Given the description of an element on the screen output the (x, y) to click on. 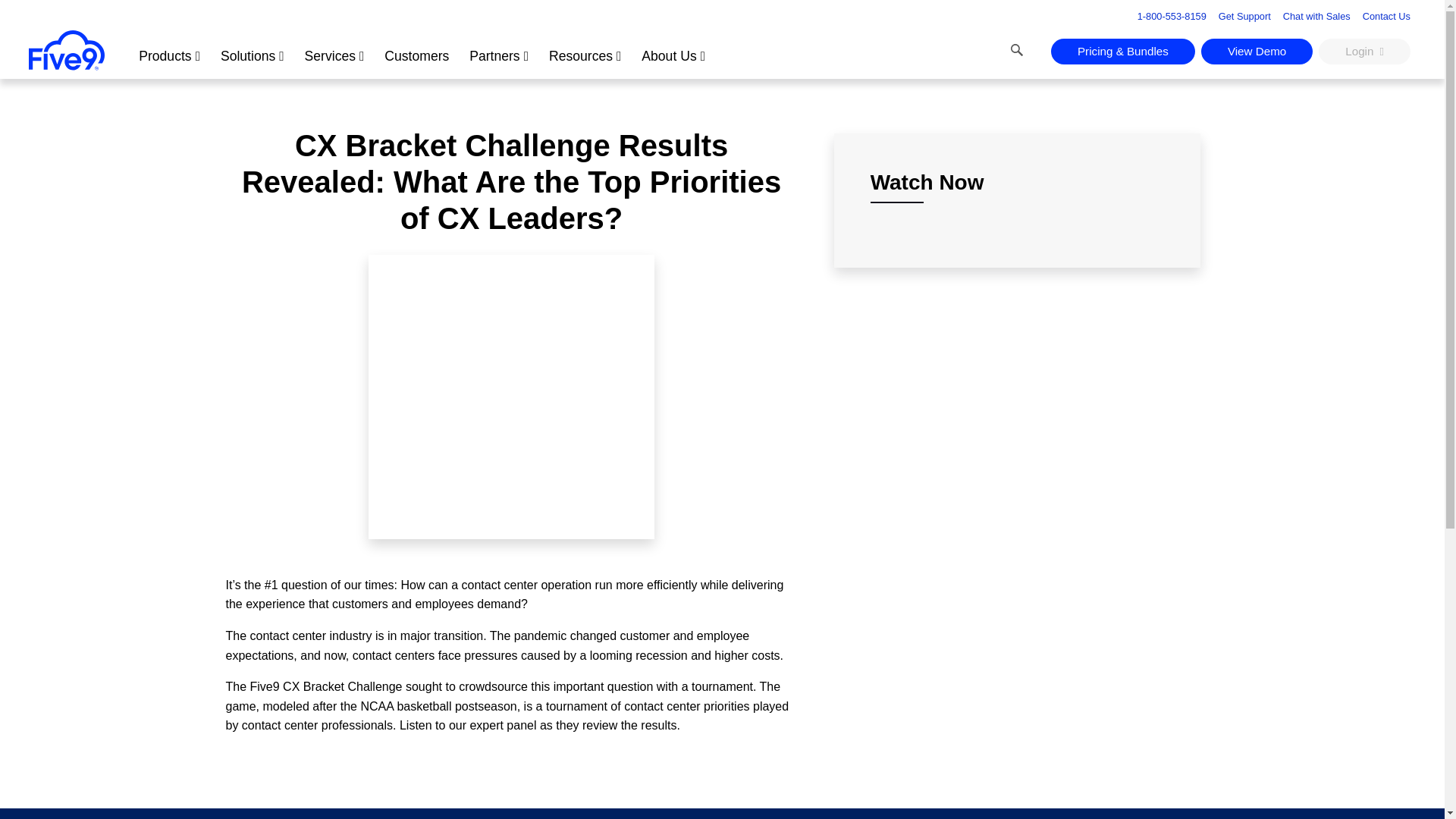
Contact Us (1386, 15)
1-800-553-8159 (1164, 16)
Get Support (1244, 15)
Login (1364, 51)
Products (169, 53)
Chat with Sales (1316, 15)
View Demo (1257, 51)
